Given the description of an element on the screen output the (x, y) to click on. 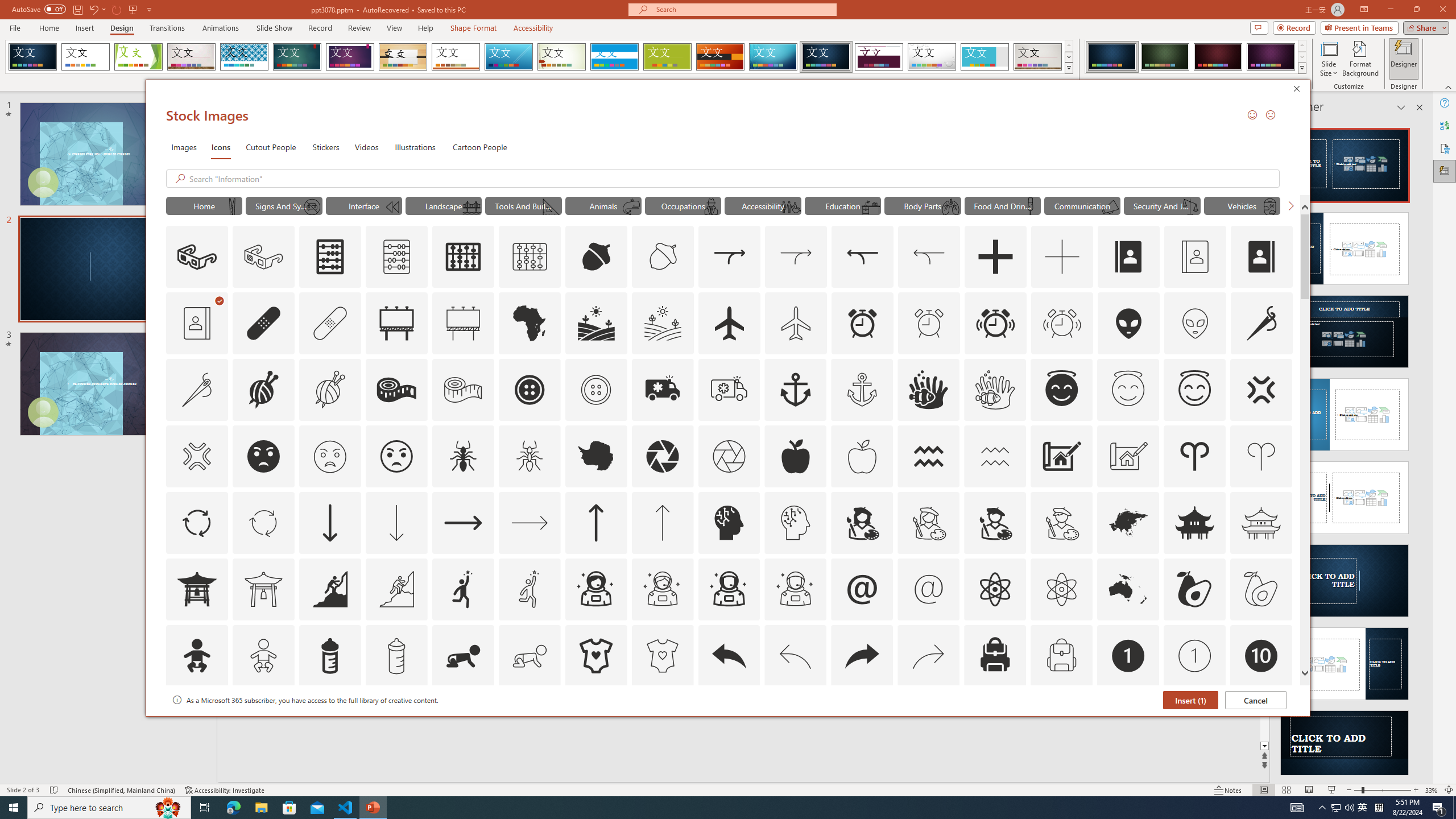
AutomationID: Icons_AddressBook_LTR_M (1194, 256)
AutomationID: Icons_Baby_M (263, 655)
Class: NetUIScrollBar (1418, 447)
AutomationID: Icons_Acorn_M (663, 256)
